Given the description of an element on the screen output the (x, y) to click on. 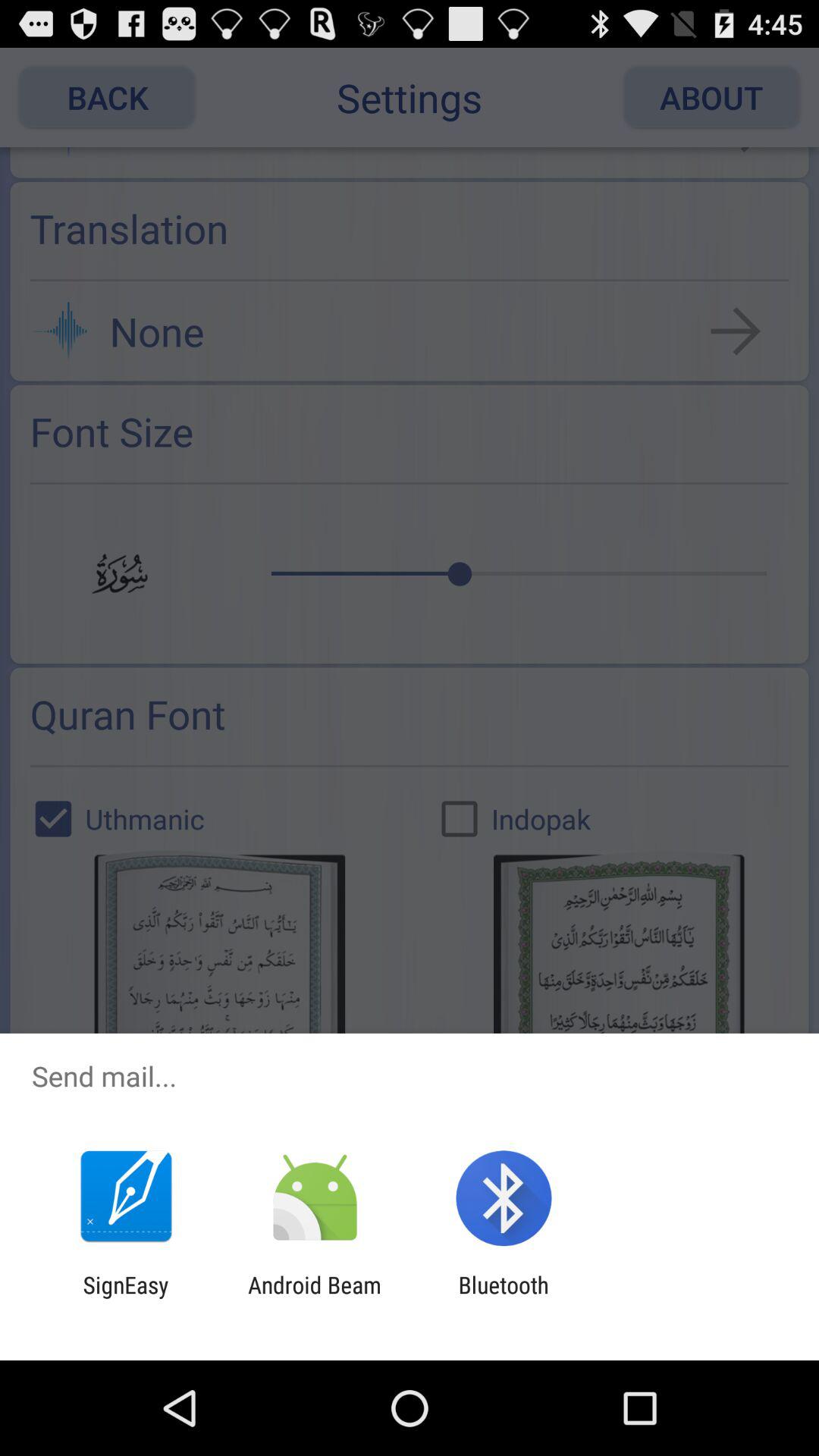
jump until the signeasy item (125, 1298)
